Given the description of an element on the screen output the (x, y) to click on. 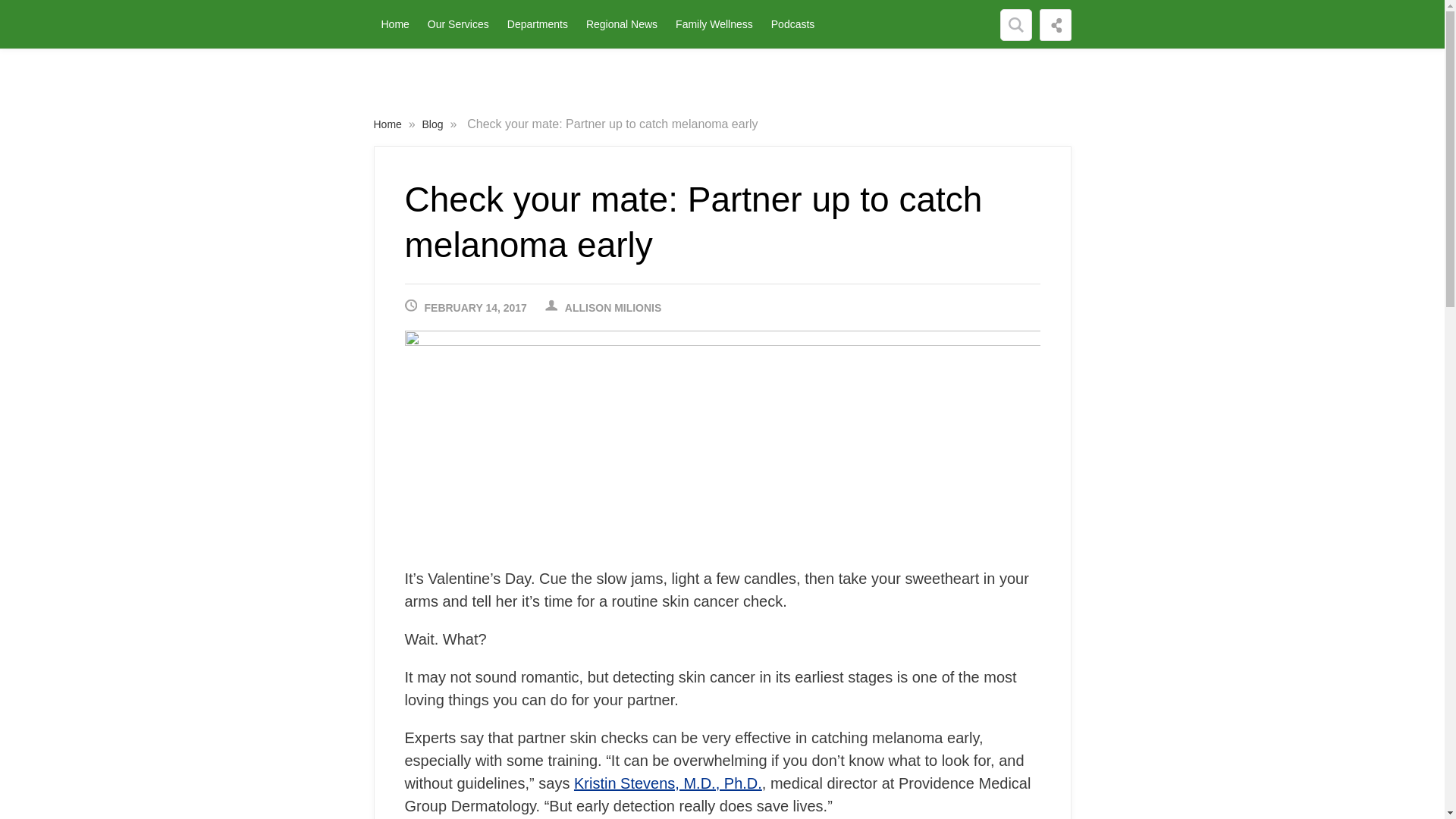
Family Wellness (714, 24)
Regional News (621, 24)
Our Services (458, 24)
Home (394, 24)
Departments (537, 24)
